Given the description of an element on the screen output the (x, y) to click on. 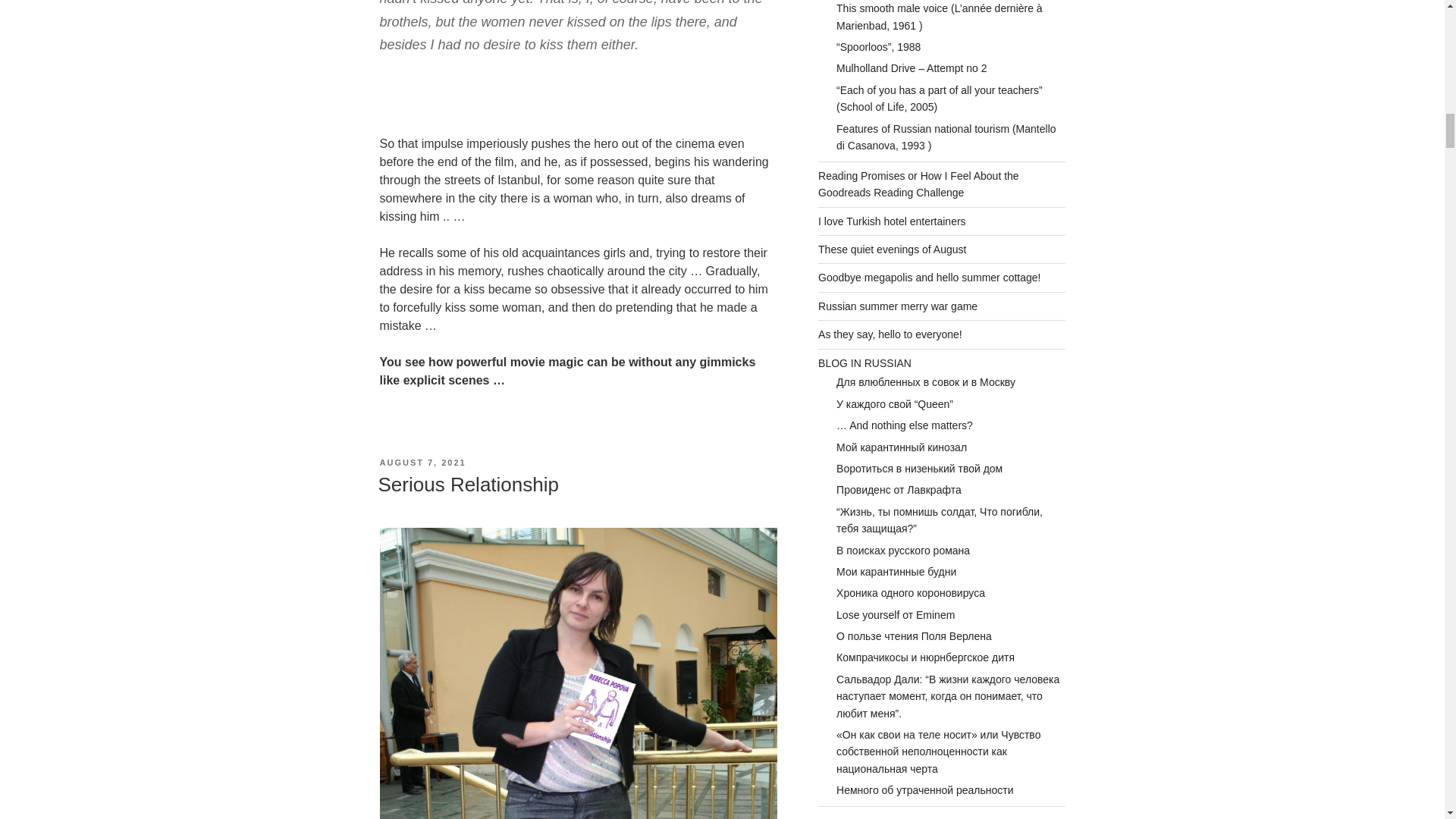
Serious Relationship (467, 484)
AUGUST 7, 2021 (421, 461)
